Given the description of an element on the screen output the (x, y) to click on. 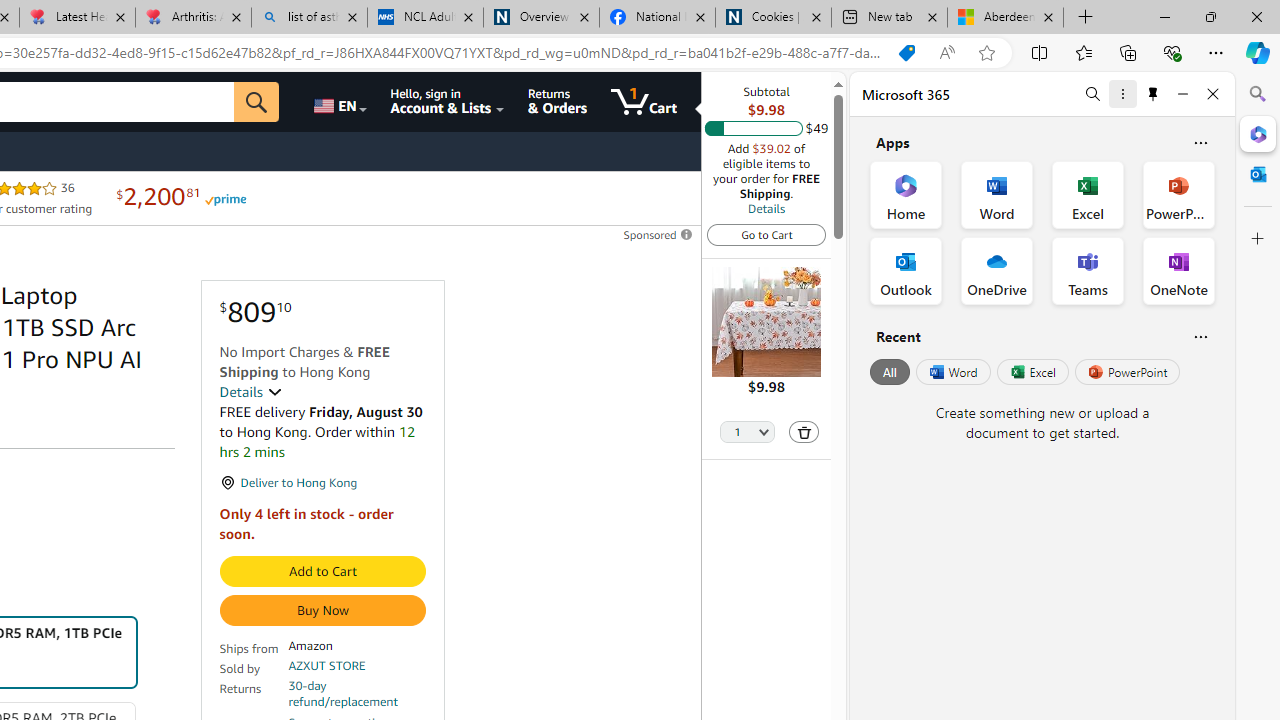
30-day refund/replacement (357, 693)
Quantity Selector (747, 433)
Close Customize pane (1258, 239)
Is this helpful? (1200, 336)
OneNote Office App (1178, 270)
Prime (224, 198)
list of asthma inhalers uk - Search (309, 17)
PowerPoint Office App (1178, 194)
You have the best price! (906, 53)
1 item in cart (643, 101)
Teams Office App (1087, 270)
